Given the description of an element on the screen output the (x, y) to click on. 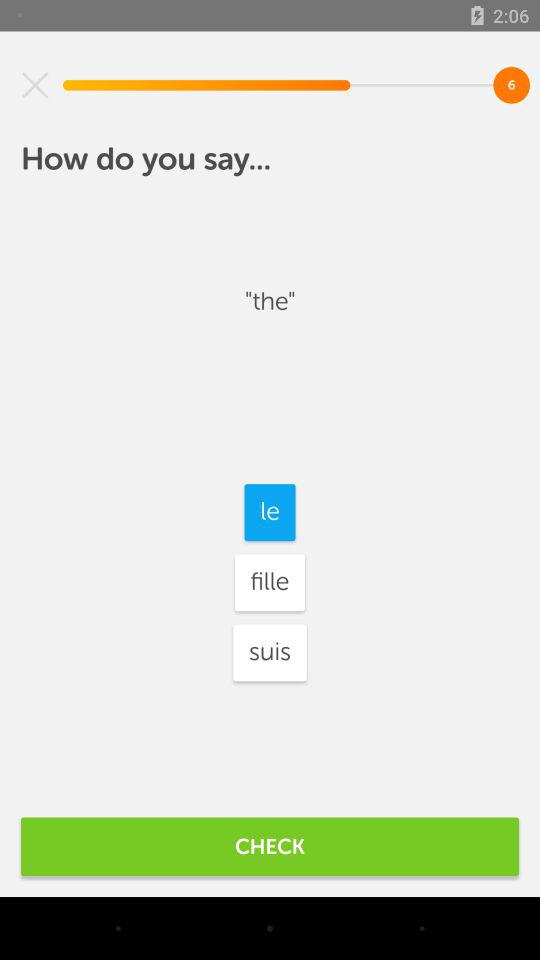
click fille item (269, 582)
